Given the description of an element on the screen output the (x, y) to click on. 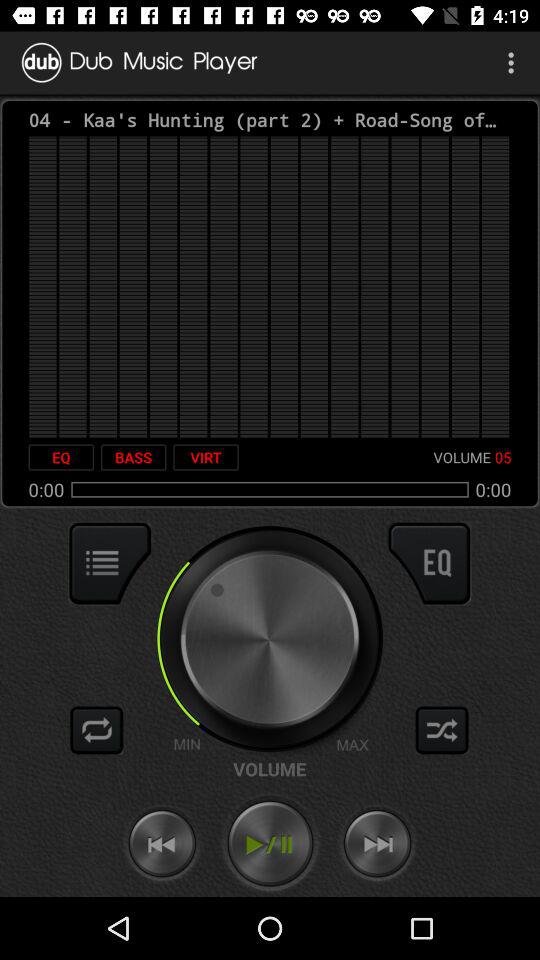
turn on the icon to the left of the  bass (61, 457)
